Given the description of an element on the screen output the (x, y) to click on. 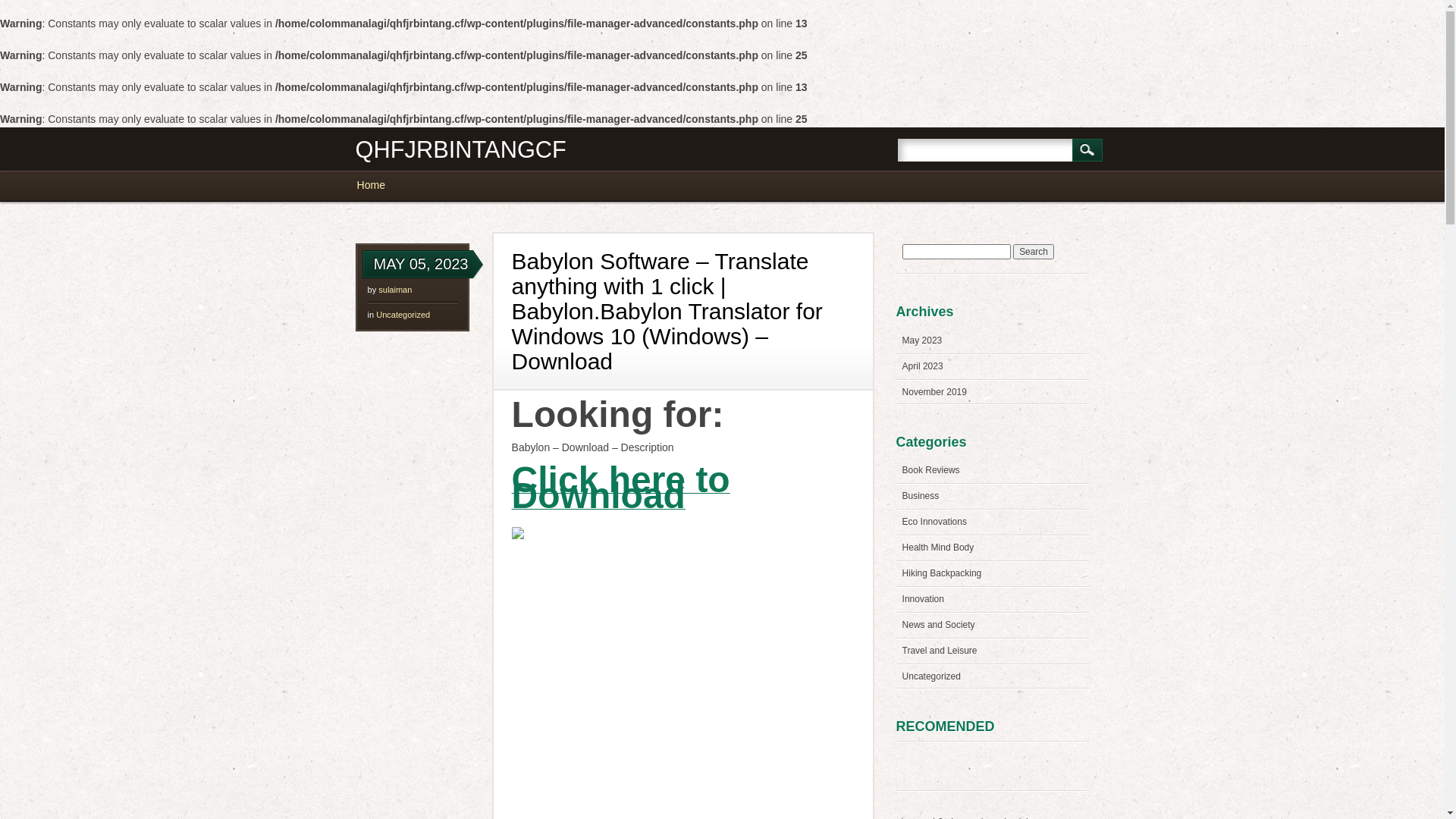
Search Element type: text (1087, 149)
Health Mind Body Element type: text (938, 547)
QHFJRBINTANGCF Element type: text (460, 149)
Book Reviews Element type: text (931, 469)
Uncategorized Element type: text (402, 314)
News and Society Element type: text (938, 624)
May 2023 Element type: text (922, 340)
Click here to Download Element type: text (620, 496)
Innovation Element type: text (923, 598)
Search Element type: text (1033, 251)
sulaiman Element type: text (394, 289)
Uncategorized Element type: text (931, 676)
Hiking Backpacking Element type: text (942, 572)
Business Element type: text (920, 495)
November 2019 Element type: text (934, 391)
MAY 05, 2023 Element type: text (420, 263)
April 2023 Element type: text (922, 365)
Skip to content Element type: text (390, 177)
Travel and Leisure Element type: text (939, 650)
Eco Innovations Element type: text (934, 521)
Home Element type: text (377, 184)
